Given the description of an element on the screen output the (x, y) to click on. 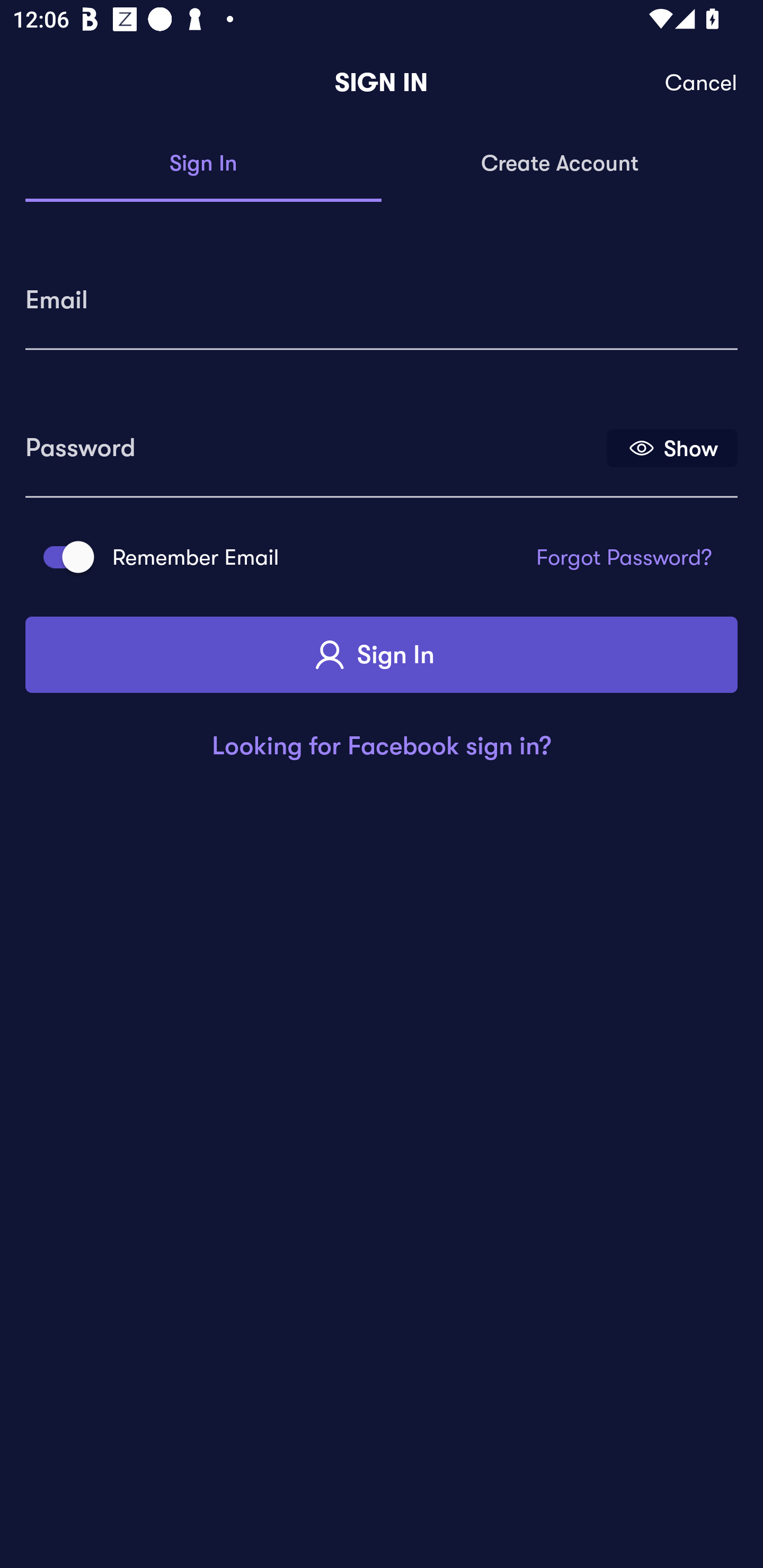
Cancel (701, 82)
Sign In (203, 164)
Create Account (559, 164)
Email (381, 293)
Password (314, 441)
Show Password Show (671, 447)
Remember Email (62, 557)
Sign In (381, 654)
